Given the description of an element on the screen output the (x, y) to click on. 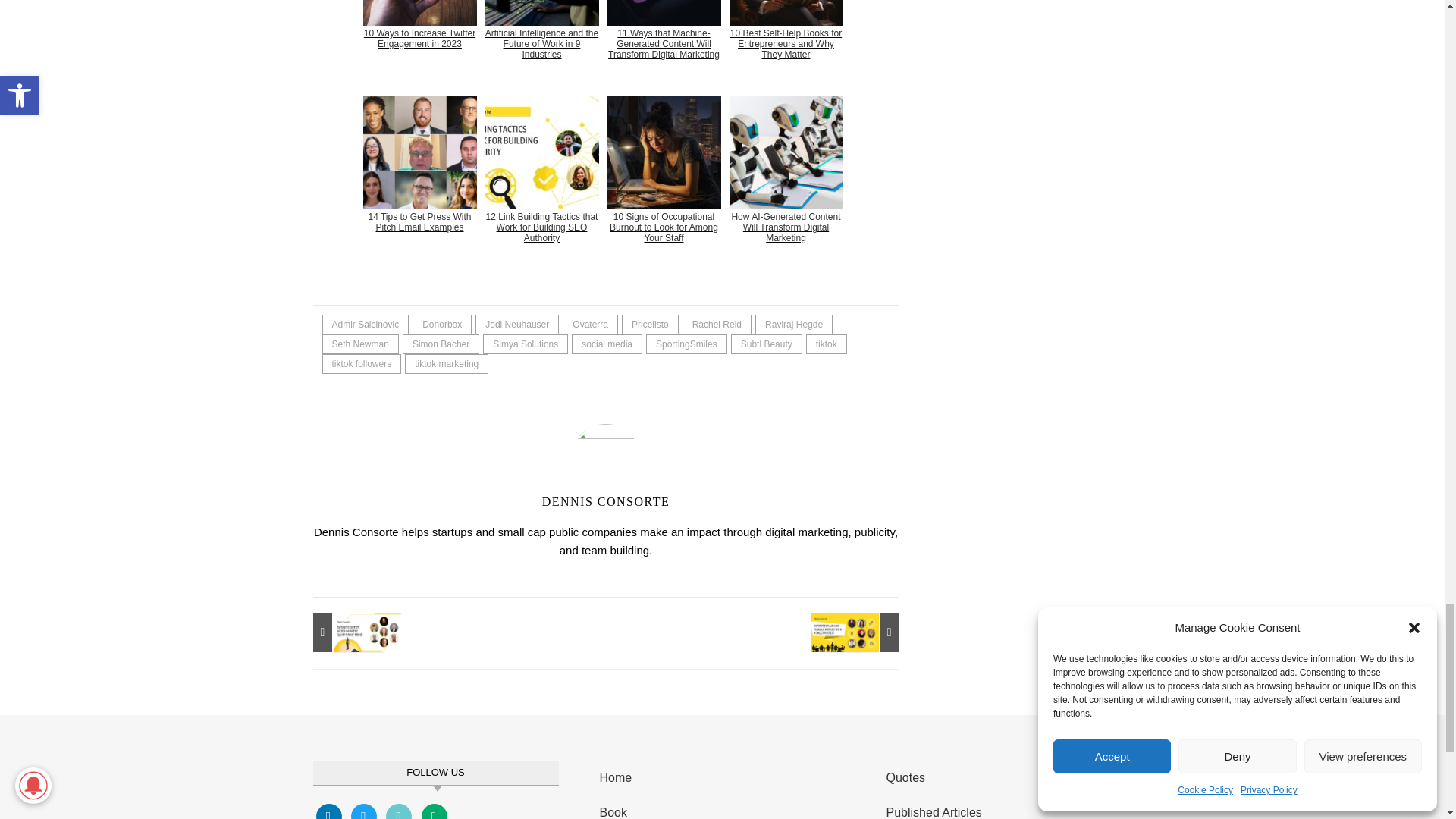
Instagram (398, 814)
Facebook (327, 814)
11 Business Experts Weigh in on the 'Quiet Firing' Trend (346, 631)
Posts by Dennis Consorte (605, 501)
Twitter (363, 814)
